Given the description of an element on the screen output the (x, y) to click on. 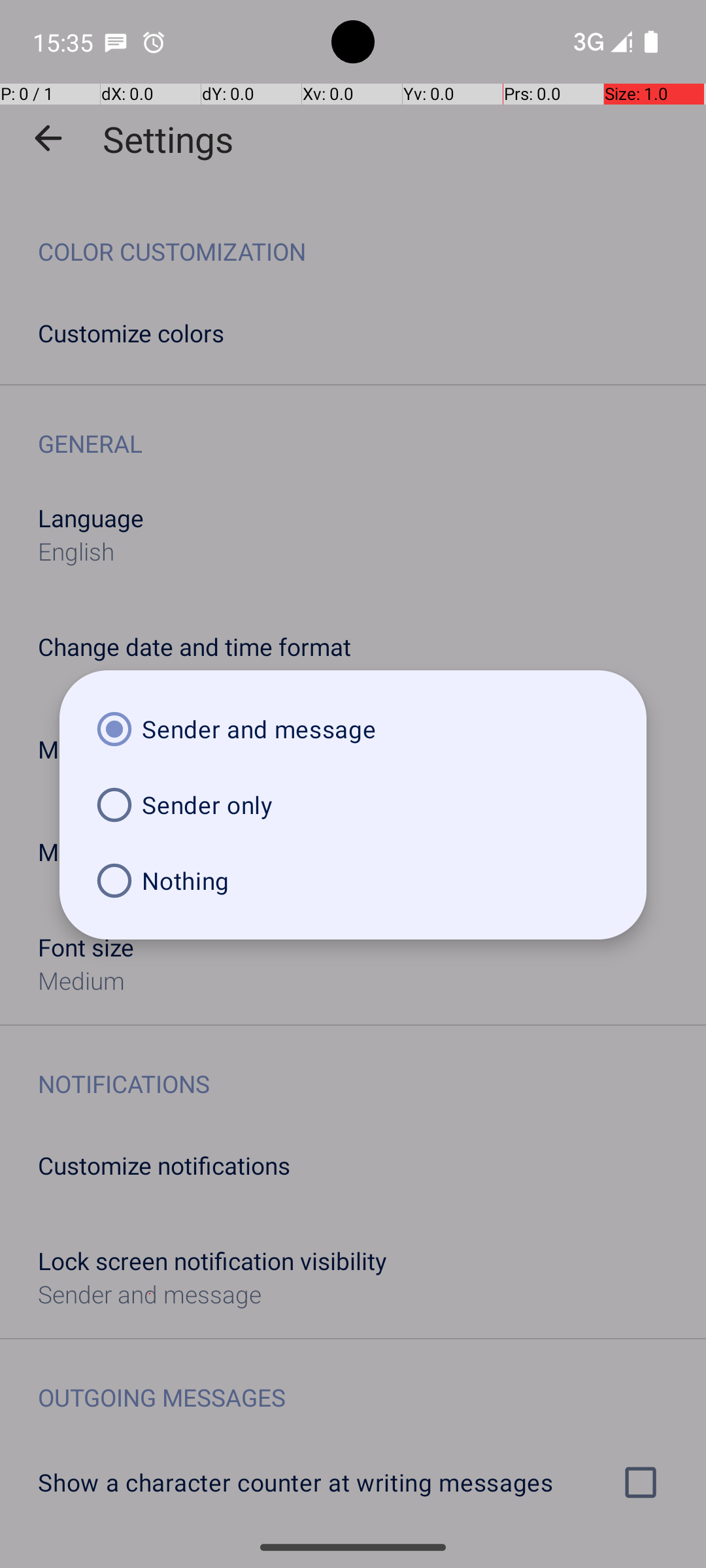
Nothing Element type: android.widget.RadioButton (352, 880)
